Given the description of an element on the screen output the (x, y) to click on. 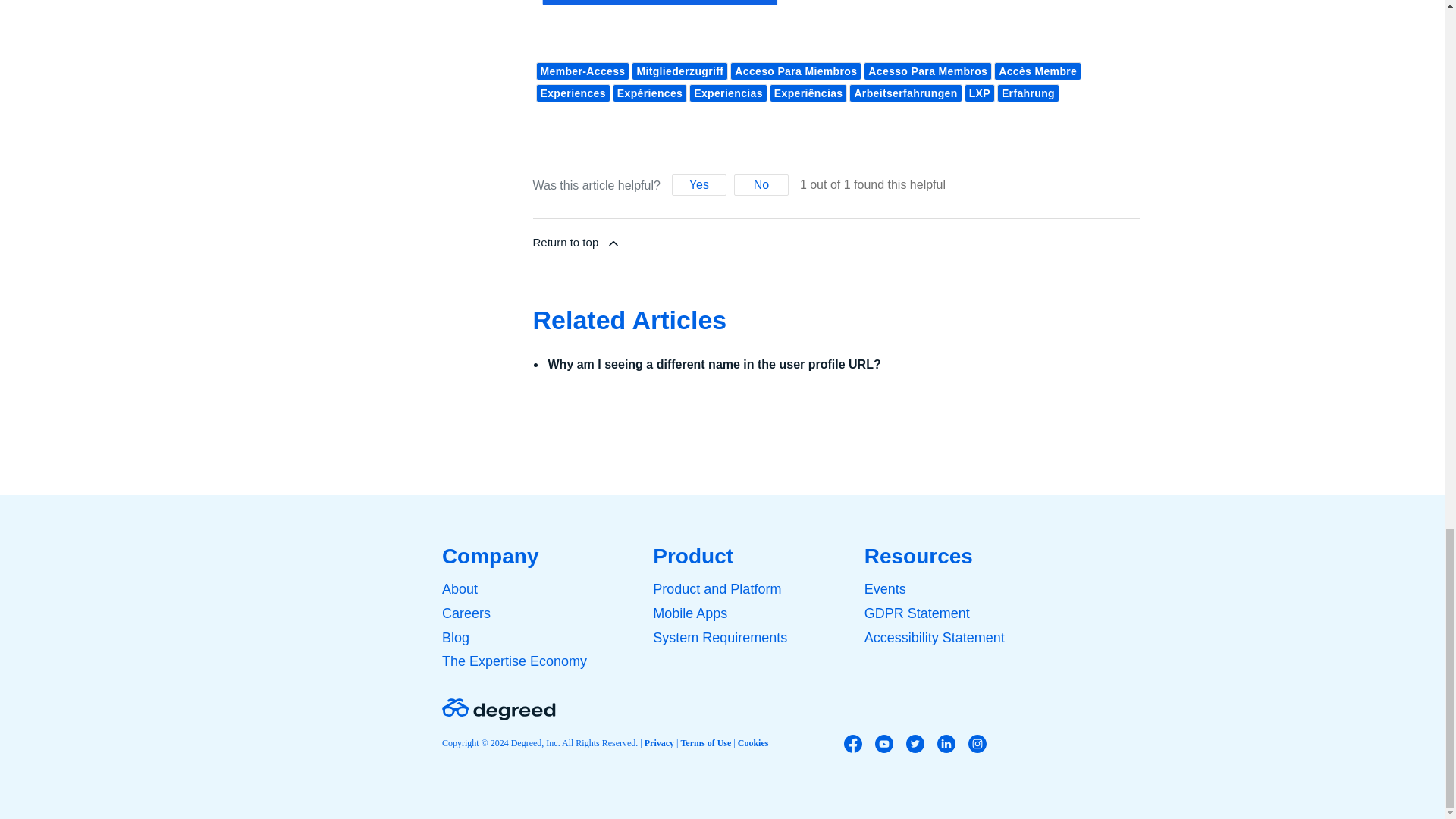
Mitgliederzugriff (679, 71)
No (761, 184)
Acesso Para Membros (927, 71)
Twitter (914, 742)
Yes (698, 184)
Erfahrung (1028, 93)
LXP (978, 93)
Acceso Para Miembros (795, 71)
Experiences (572, 93)
Member-Access (581, 71)
Facebook (852, 743)
Return to top (835, 242)
Arbeitserfahrungen (904, 93)
LinkedIn (946, 742)
Experiencias (727, 93)
